Given the description of an element on the screen output the (x, y) to click on. 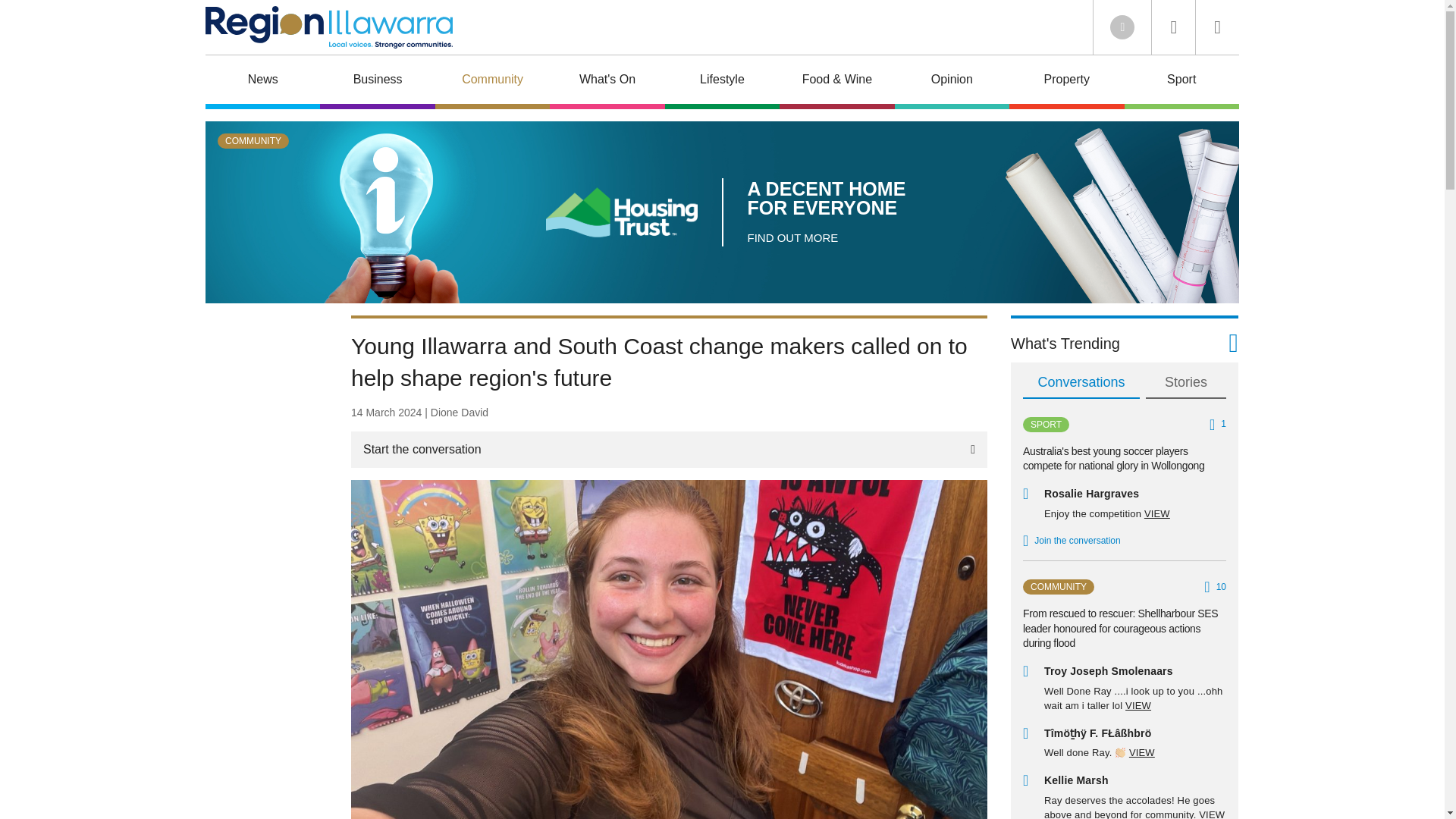
Region Illawarra Home (328, 26)
News (262, 81)
Community (492, 81)
Business (376, 81)
Facebook (1121, 27)
